Given the description of an element on the screen output the (x, y) to click on. 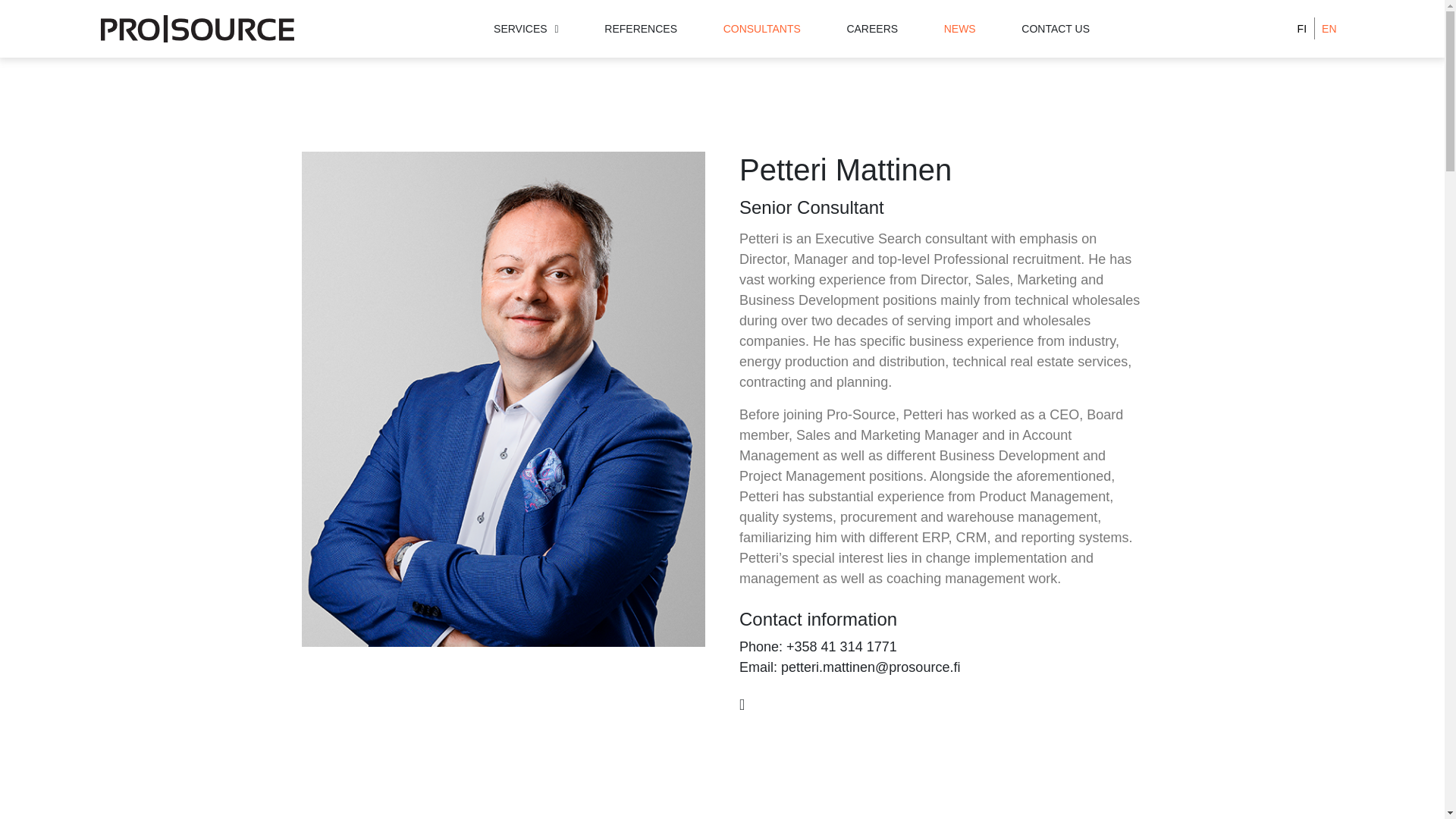
CONTACT US (1055, 28)
EN (1329, 28)
CAREERS (871, 28)
SERVICES (526, 28)
REFERENCES (640, 28)
CONSULTANTS (761, 28)
